Given the description of an element on the screen output the (x, y) to click on. 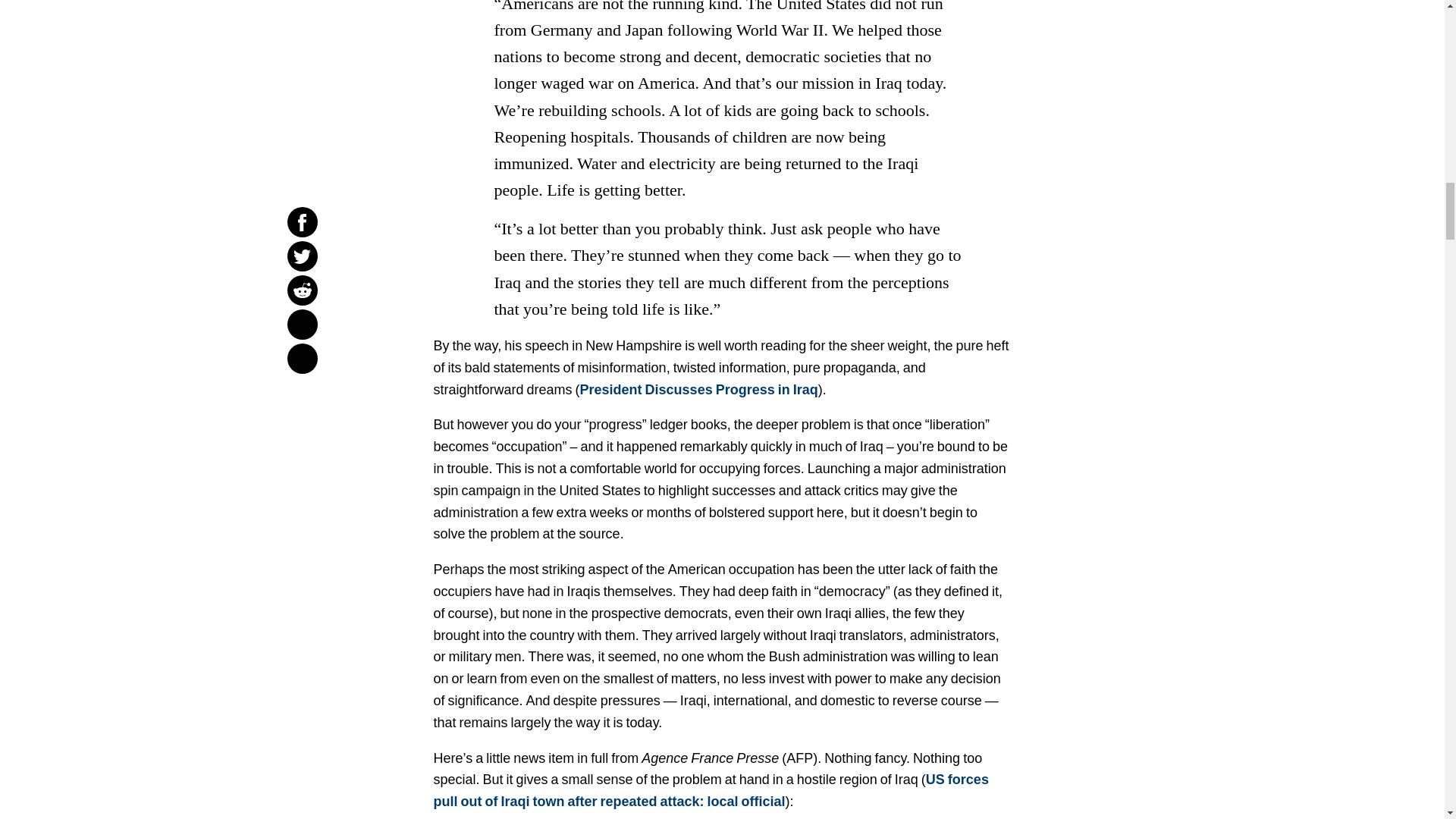
President Discusses Progress in Iraq (698, 389)
